Given the description of an element on the screen output the (x, y) to click on. 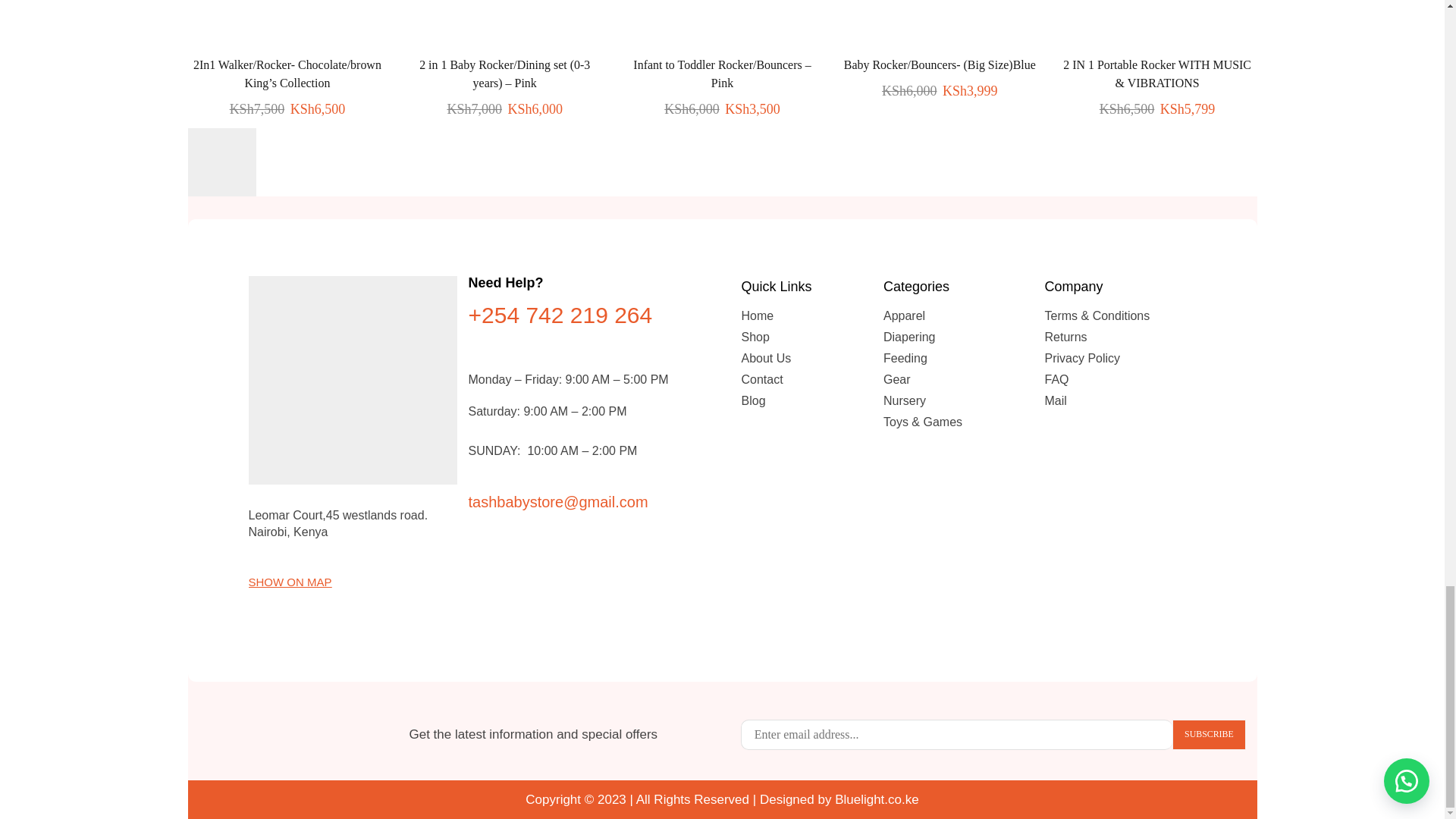
Subscribe (1209, 734)
